Given the description of an element on the screen output the (x, y) to click on. 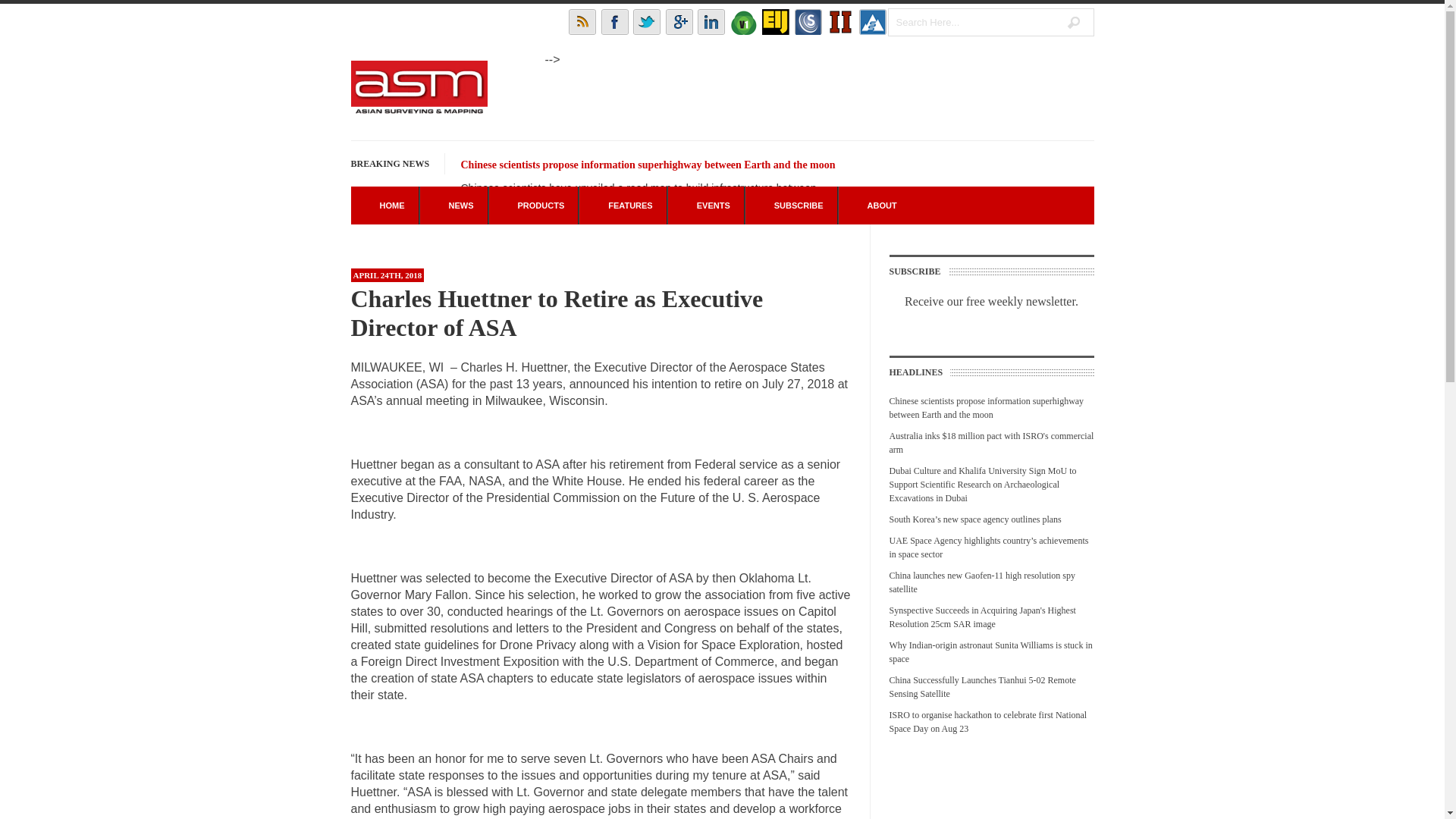
HOME (384, 205)
RSS (582, 22)
Google plus (679, 22)
GeoSpatial Stream (872, 22)
Search Here... (989, 22)
EVENTS (705, 205)
NEWS (453, 205)
ABOUT (873, 205)
Digg (840, 22)
Facebook (614, 22)
Earth Imaging Journal (775, 22)
SUBSCRIBE (791, 205)
Linkedin (711, 22)
YouTube (743, 22)
FEATURES (622, 205)
